Given the description of an element on the screen output the (x, y) to click on. 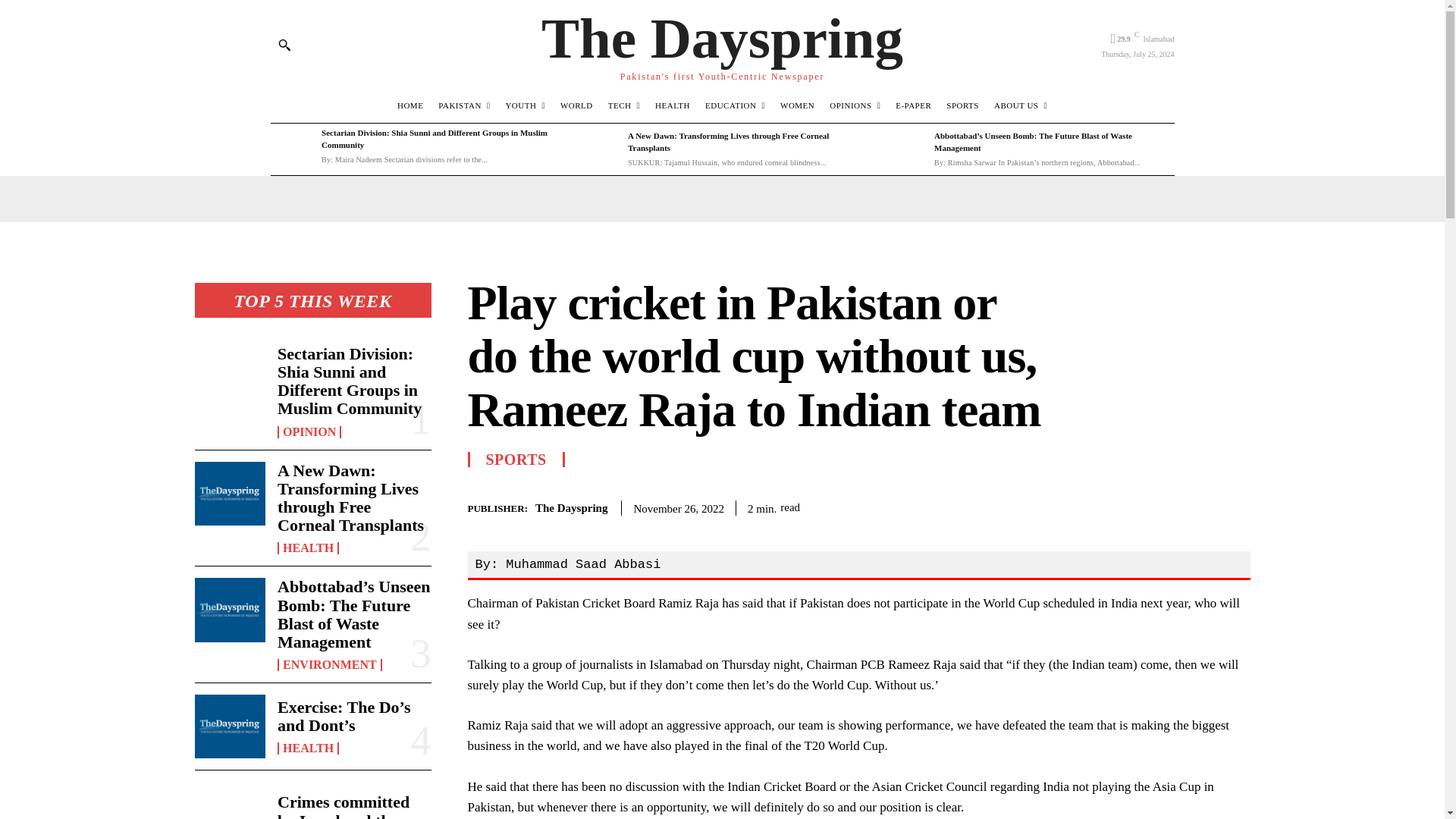
The Dayspring (721, 44)
